Given the description of an element on the screen output the (x, y) to click on. 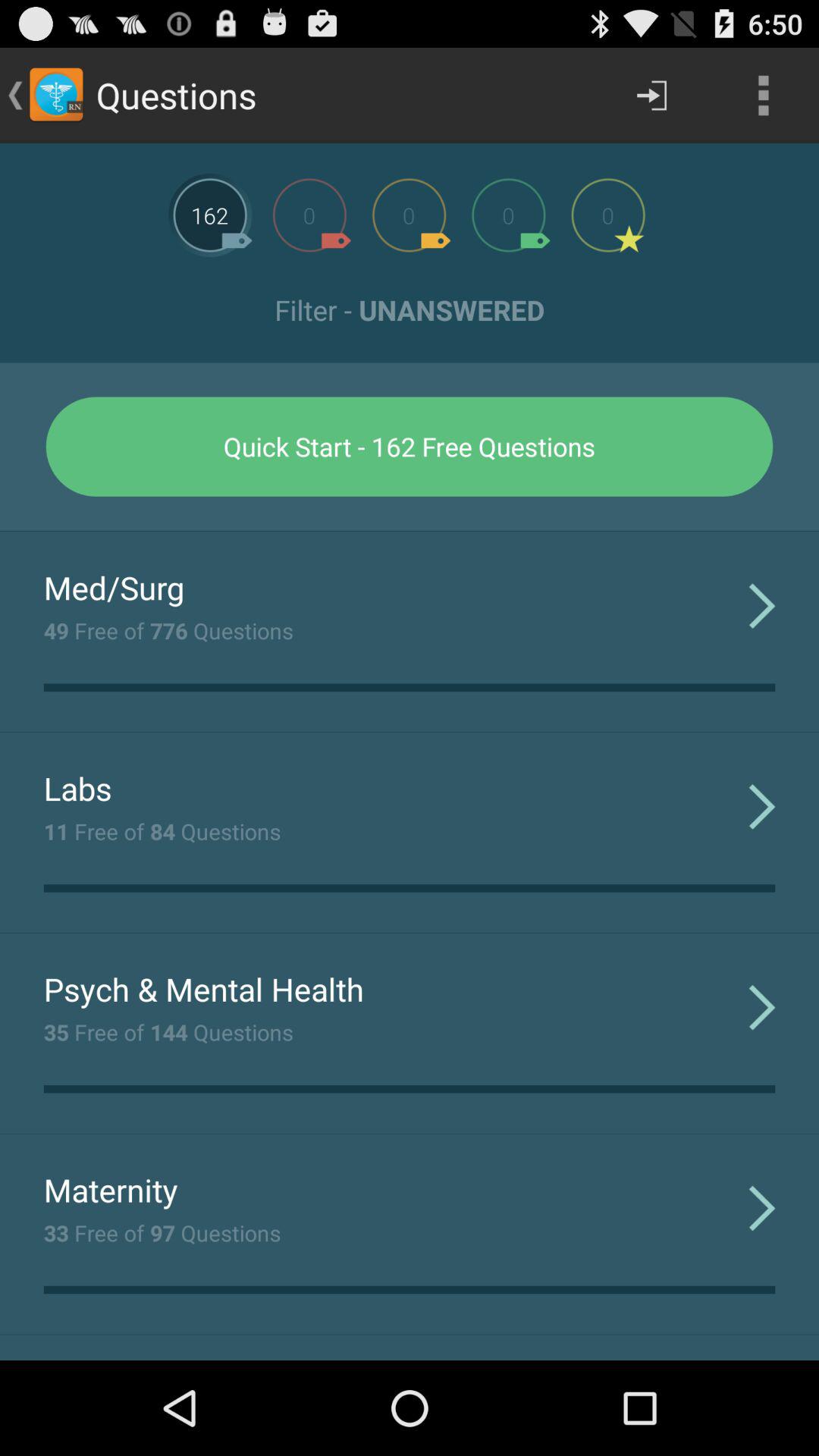
open labs item (77, 787)
